Given the description of an element on the screen output the (x, y) to click on. 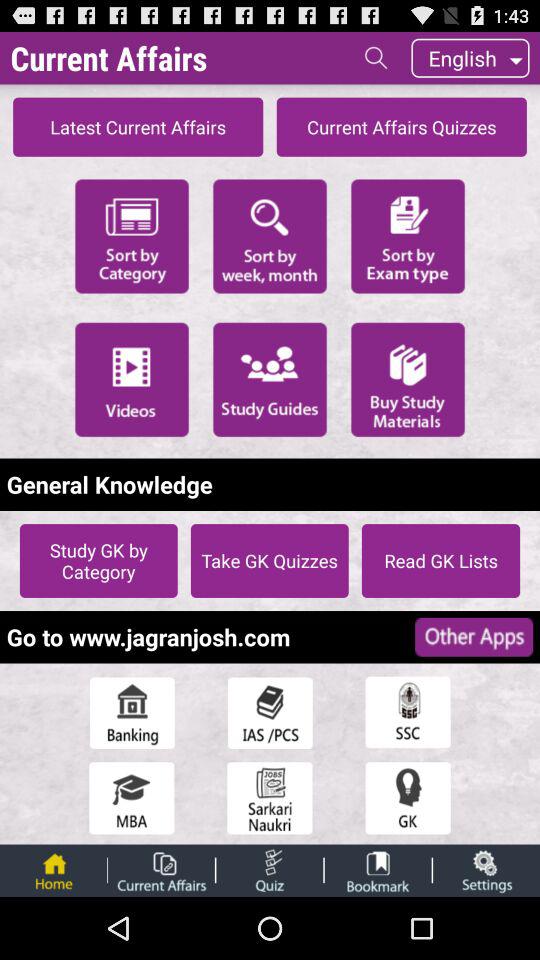
bookmark (378, 870)
